Given the description of an element on the screen output the (x, y) to click on. 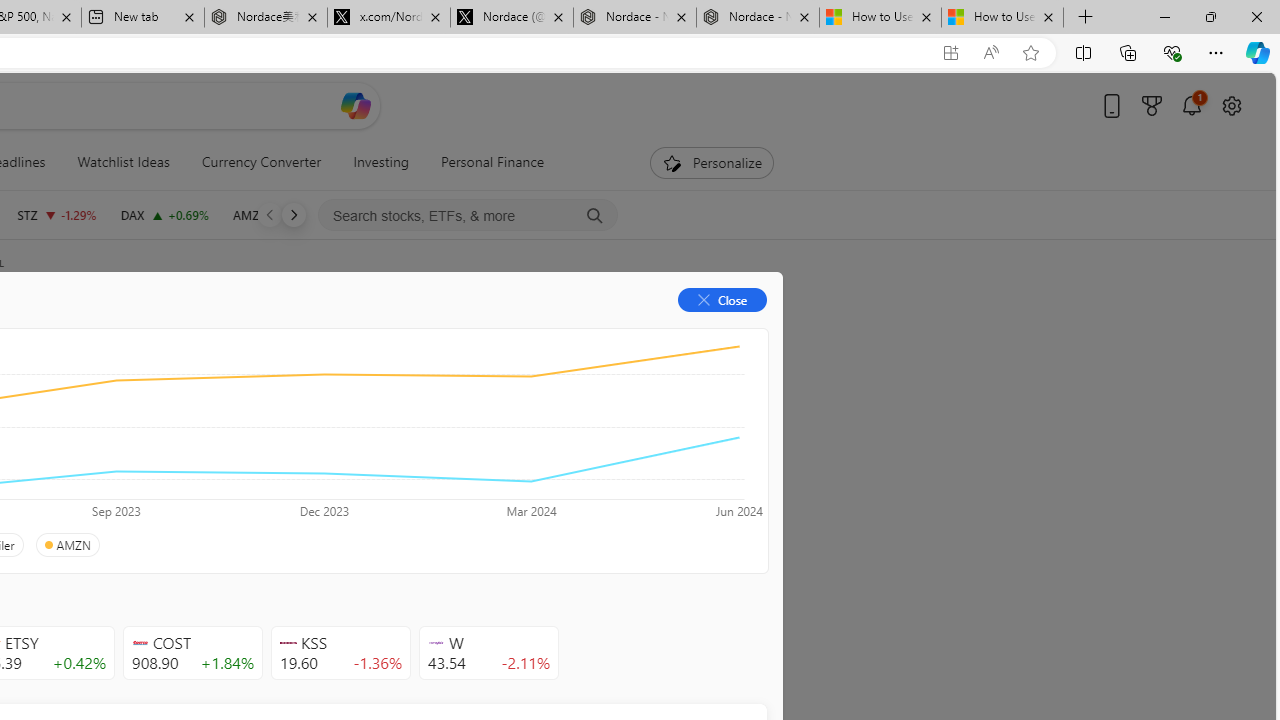
Microsoft rewards (1151, 105)
Previous (269, 214)
Watchlist Ideas (123, 162)
AMZN (66, 545)
Personalize (711, 162)
Earnings (398, 331)
How to Use a Monitor With Your Closed Laptop (1002, 17)
Open Copilot (356, 105)
Open settings (1231, 105)
